Given the description of an element on the screen output the (x, y) to click on. 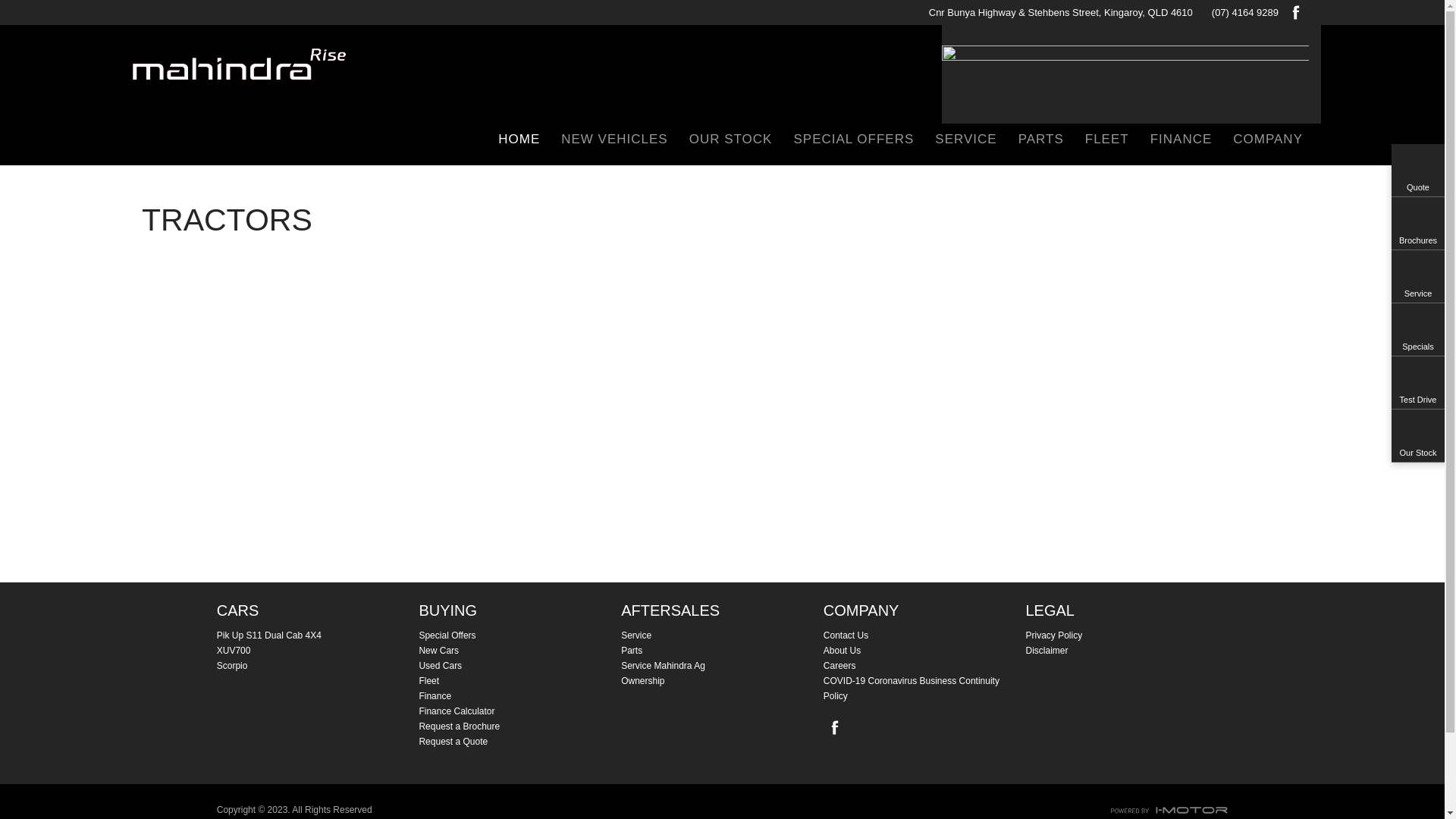
Cnr Bunya Highway & Stehbens Street, Kingaroy, QLD 4610 Element type: text (1053, 12)
Finance Element type: text (519, 695)
Special Offers Element type: text (519, 635)
XUV700 Element type: text (317, 650)
PARTS Element type: text (1040, 140)
Fleet Element type: text (519, 680)
FINANCE Element type: text (1181, 140)
Request a Brochure Element type: text (519, 726)
(07) 4164 9289 Element type: text (1244, 12)
Parts Element type: text (722, 650)
Disclaimer Element type: text (1126, 650)
Service Element type: text (722, 635)
Contact Us Element type: text (924, 635)
NEW VEHICLES Element type: text (613, 140)
New Cars Element type: text (519, 650)
Scorpio Element type: text (317, 665)
HOME Element type: text (518, 140)
COVID-19 Coronavirus Business Continuity Policy Element type: text (924, 688)
OUR STOCK Element type: text (730, 140)
Request a Quote Element type: text (519, 741)
Finance Calculator Element type: text (519, 710)
Service Mahindra Ag Element type: text (722, 665)
About Us Element type: text (924, 650)
FLEET Element type: text (1106, 140)
Careers Element type: text (924, 665)
Pik Up S11 Dual Cab 4X4 Element type: text (317, 635)
SPECIAL OFFERS Element type: text (853, 140)
Privacy Policy Element type: text (1126, 635)
Facebook Element type: text (1293, 12)
Used Cars Element type: text (519, 665)
Facebook Element type: text (832, 727)
SERVICE Element type: text (965, 140)
COMPANY Element type: text (1262, 140)
Ownership Element type: text (722, 680)
